Given the description of an element on the screen output the (x, y) to click on. 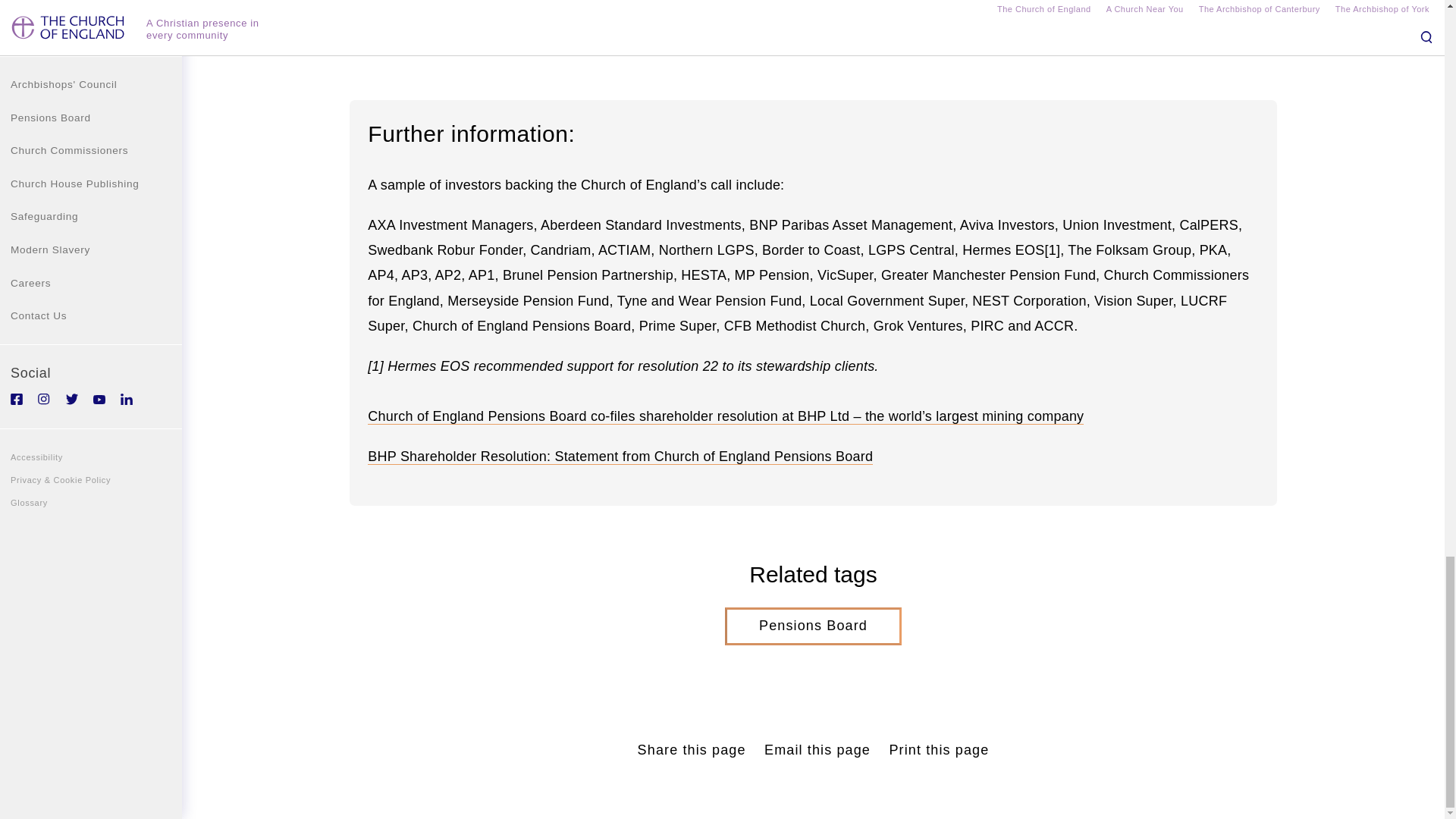
Pensions Board (813, 626)
Share this page (692, 750)
Email this page (817, 750)
